Given the description of an element on the screen output the (x, y) to click on. 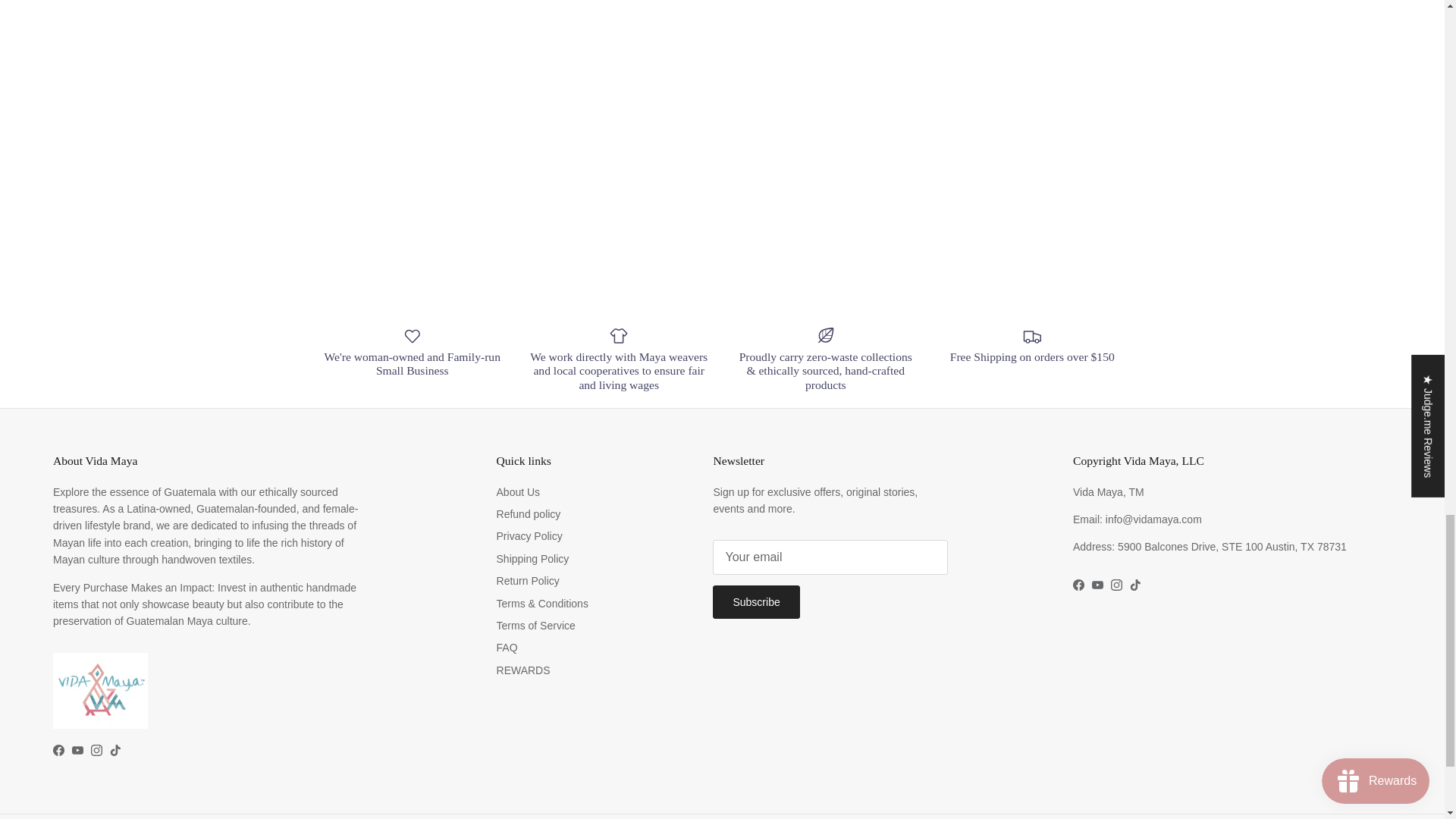
Vida Maya  on YouTube (1097, 584)
Vida Maya  on Facebook (58, 749)
Vida Maya  on Facebook (1078, 584)
Vida Maya  on Instagram (1116, 584)
Vida Maya  on TikTok (115, 749)
Vida Maya  on YouTube (76, 749)
Vida Maya  on Instagram (95, 749)
